Given the description of an element on the screen output the (x, y) to click on. 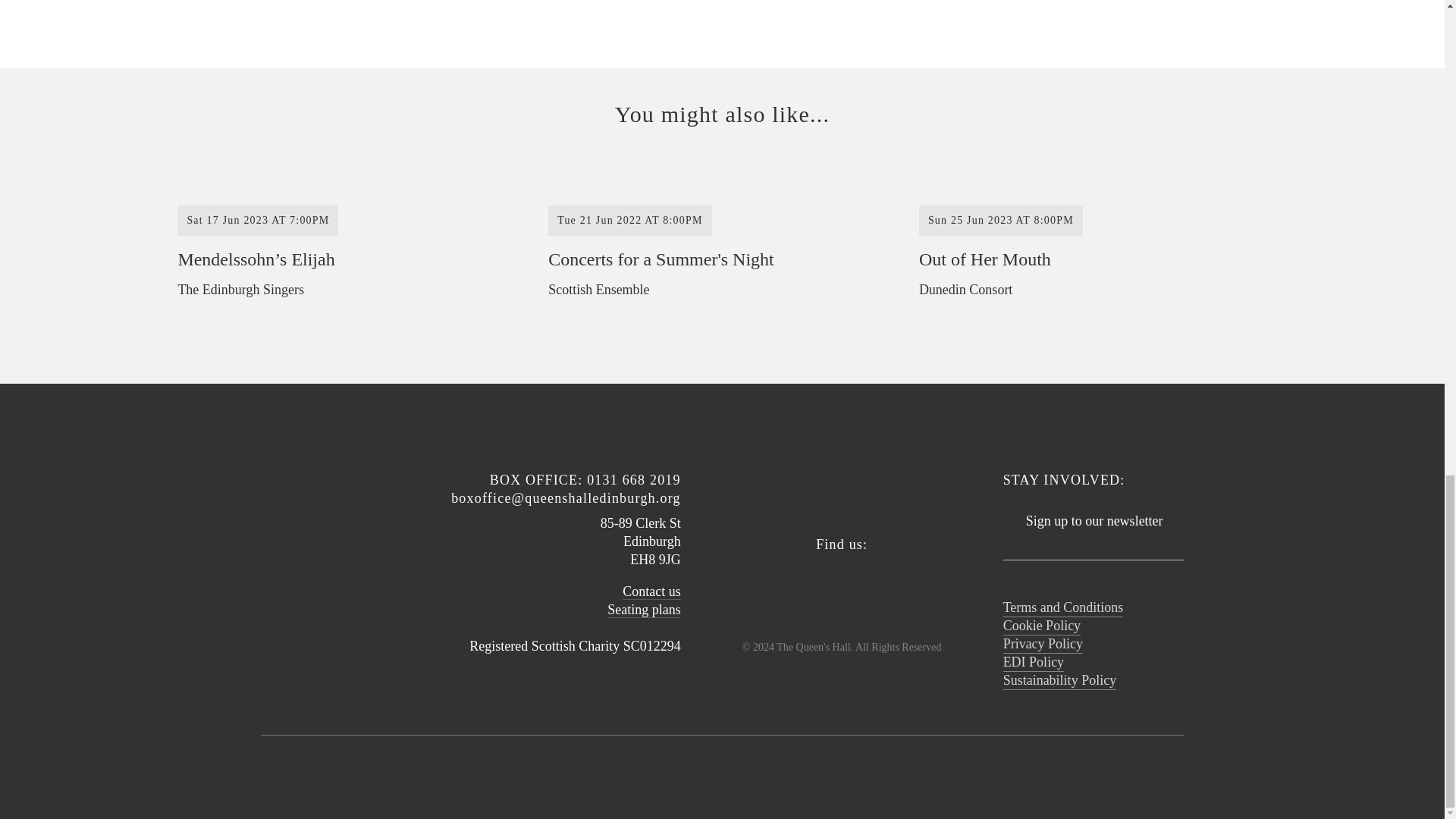
EDI Policy (1033, 662)
Read more about Out of Her Mouth (1090, 241)
Home (841, 482)
Follow Queen's Hall on Facebook (799, 588)
Follow Queen's Hall on Twitter (839, 588)
Instagram (877, 588)
The Queen's Hall's cookie policy (1042, 626)
Privacy Policy (1043, 644)
Sign up to our newsletter (1093, 530)
Twitter (839, 588)
Contact us (652, 591)
Contact us (1090, 241)
Cookie Policy (652, 591)
